Given the description of an element on the screen output the (x, y) to click on. 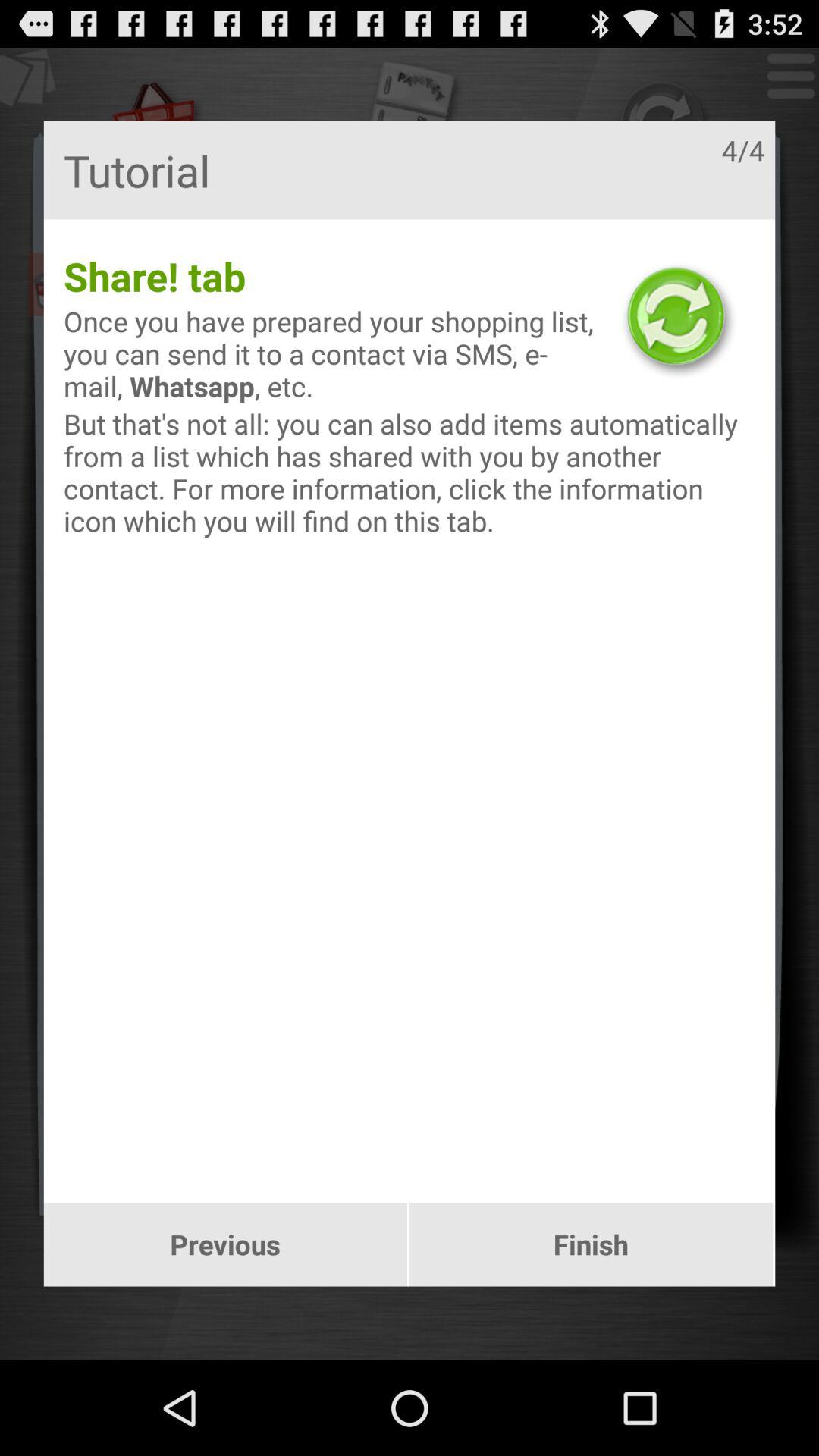
swipe to previous icon (225, 1244)
